Given the description of an element on the screen output the (x, y) to click on. 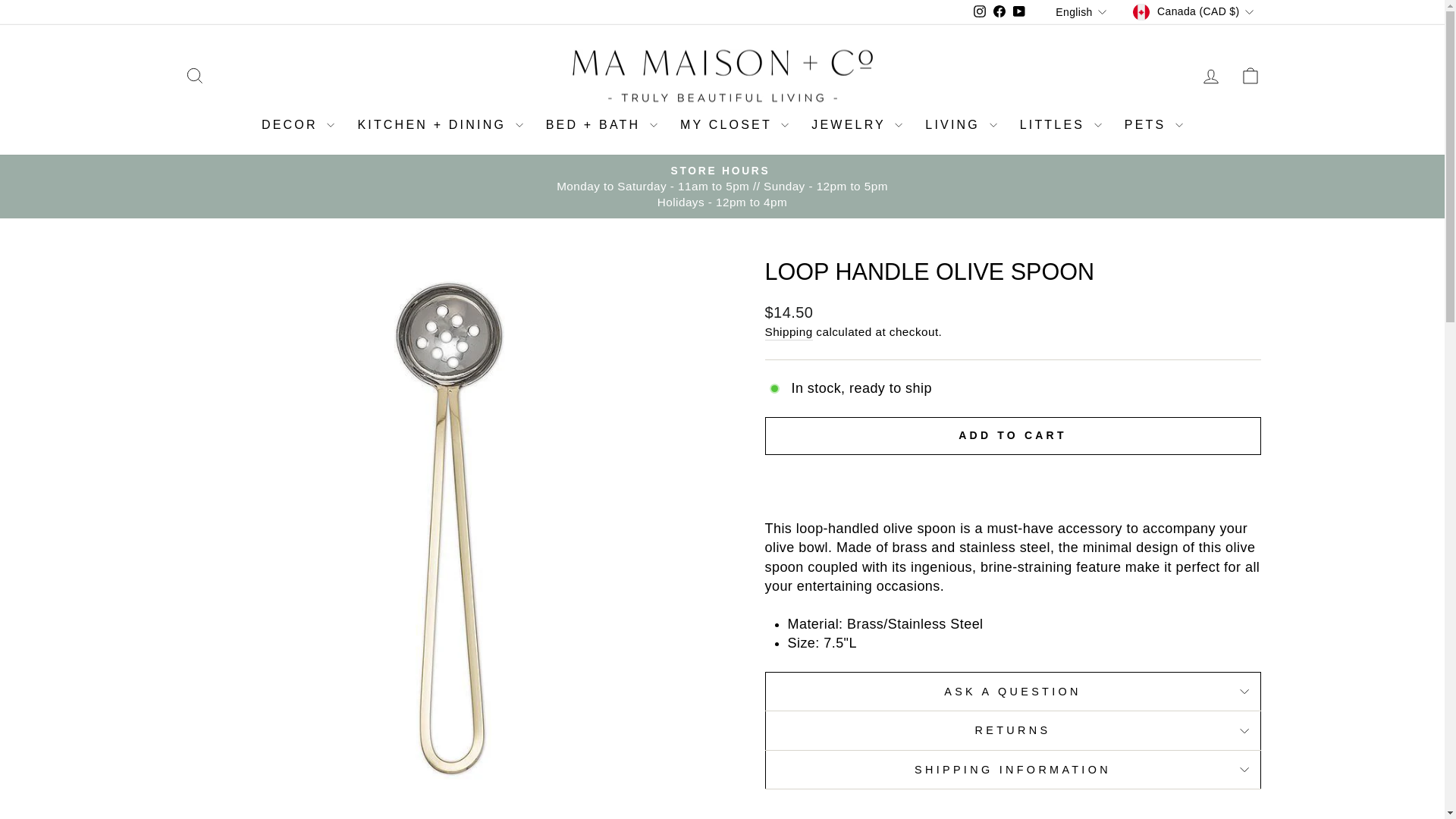
ACCOUNT (1210, 76)
instagram (979, 10)
ICON-SEARCH (194, 75)
ICON-BAG-MINIMAL (1249, 75)
